Given the description of an element on the screen output the (x, y) to click on. 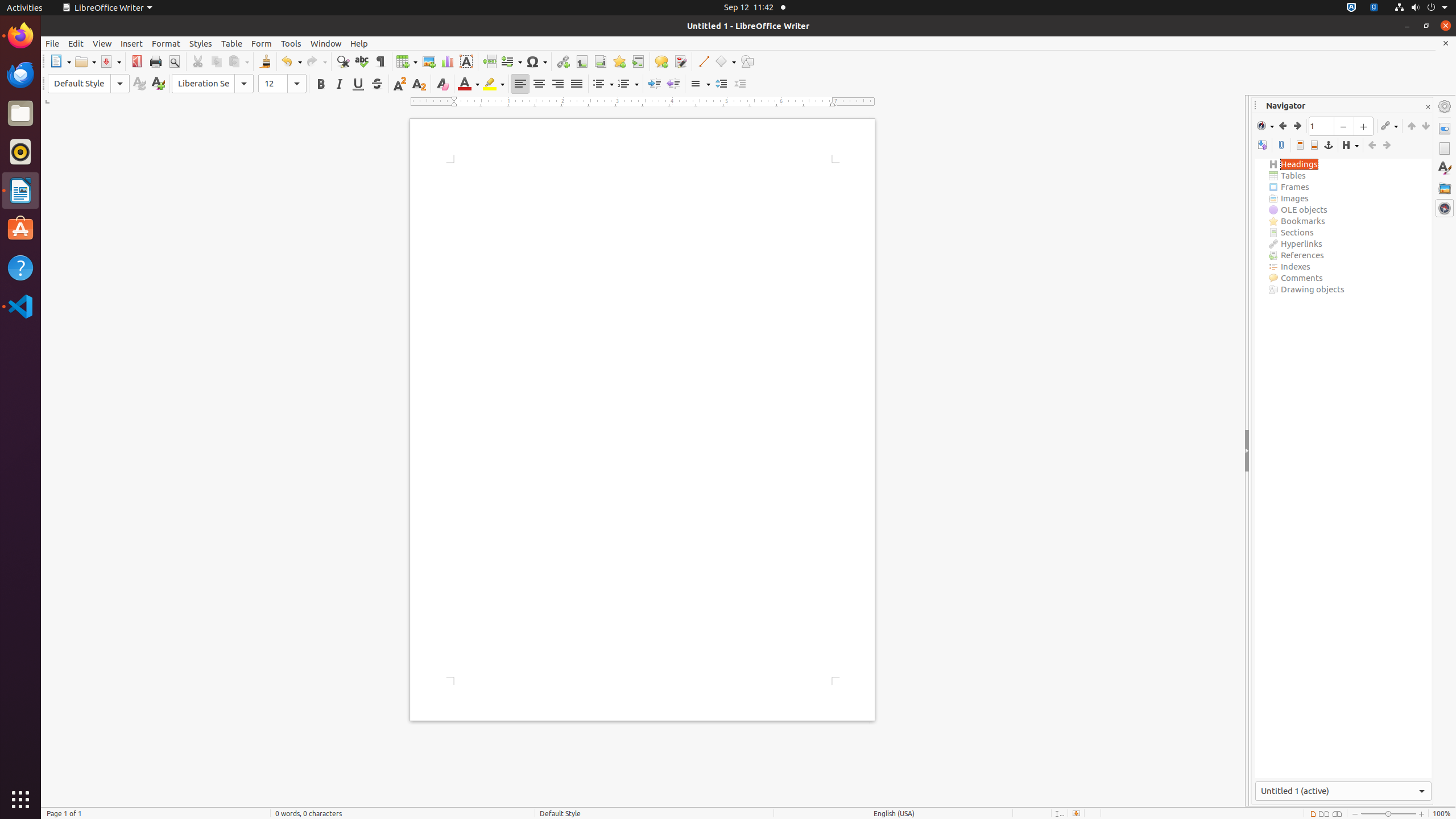
Table Element type: push-button (406, 61)
Cut Element type: push-button (197, 61)
Navigation Element type: push-button (1265, 125)
Show Applications Element type: toggle-button (20, 799)
View Element type: menu (102, 43)
